Given the description of an element on the screen output the (x, y) to click on. 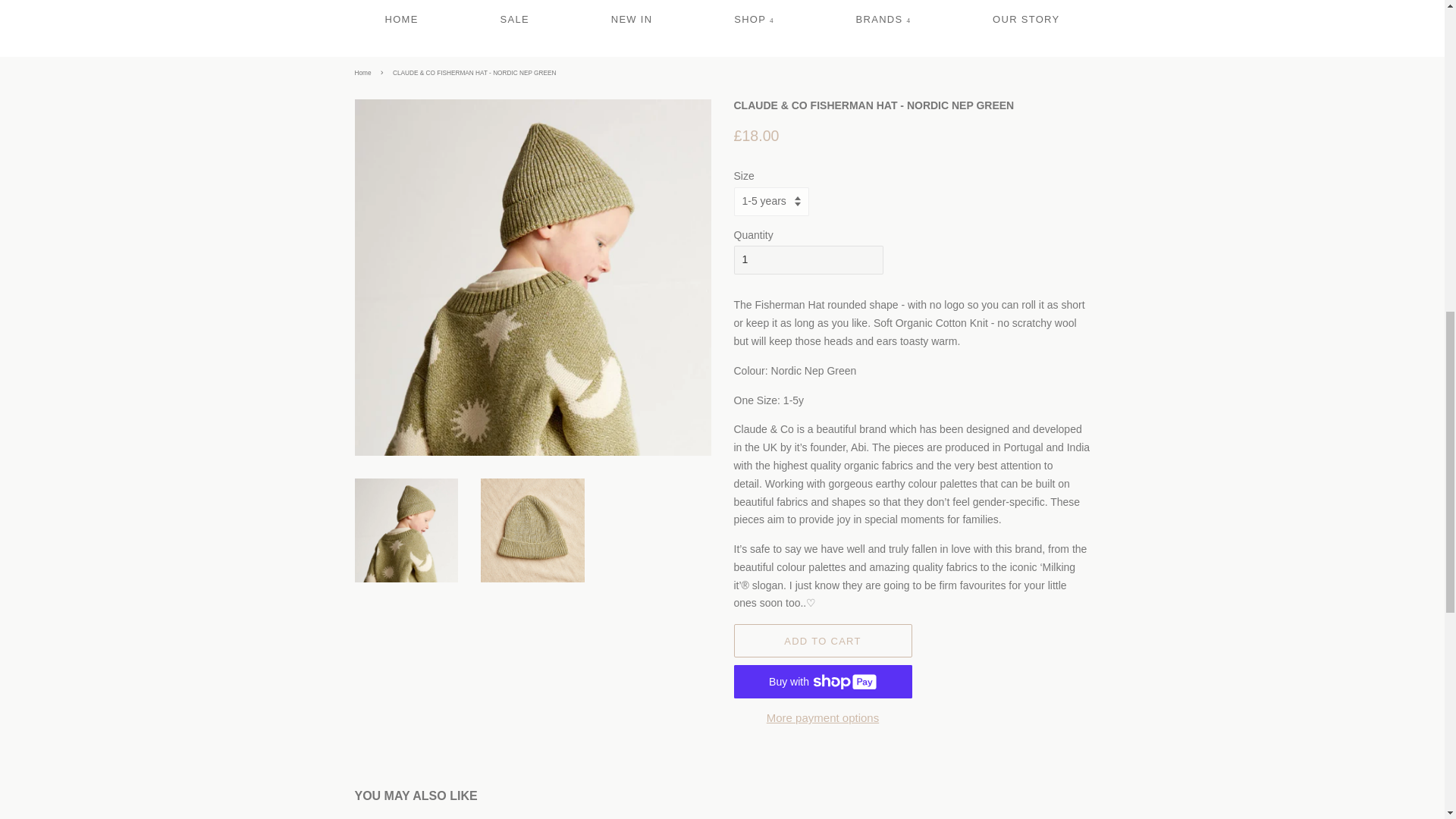
1 (808, 259)
Back to the frontpage (365, 72)
